Given the description of an element on the screen output the (x, y) to click on. 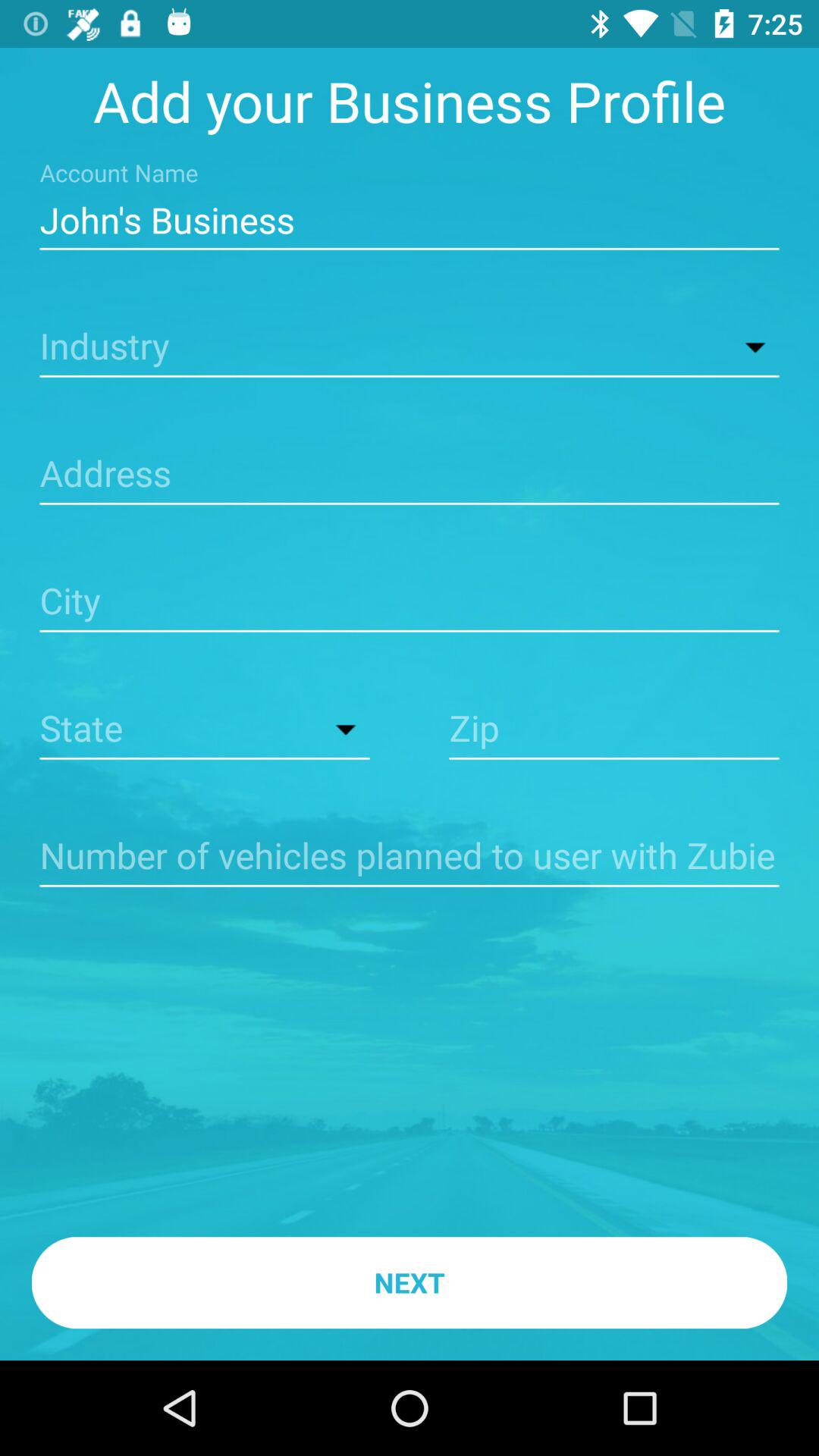
address (409, 475)
